Given the description of an element on the screen output the (x, y) to click on. 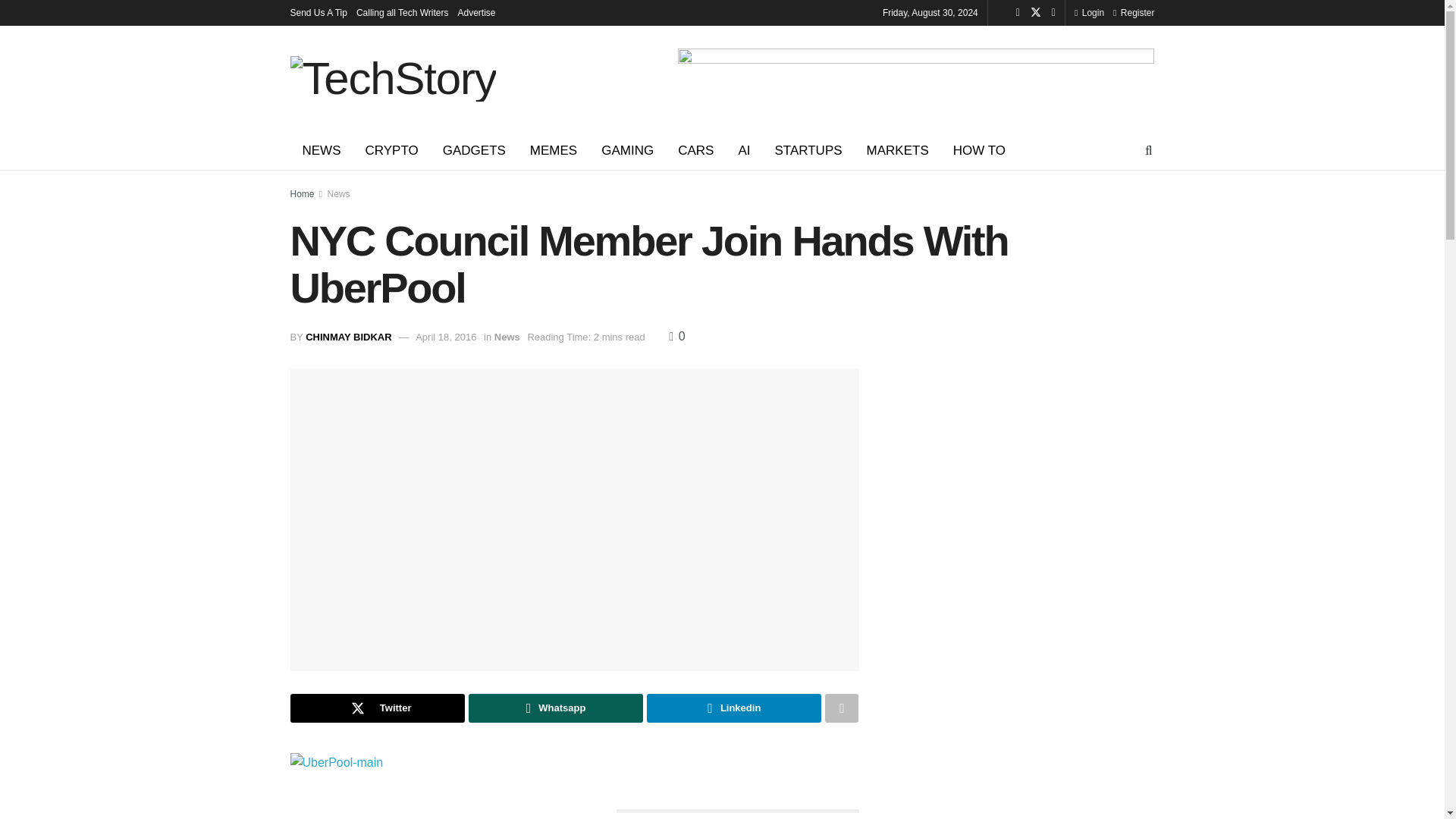
CARS (695, 150)
Advertise (477, 12)
Login (1088, 12)
MEMES (553, 150)
GADGETS (474, 150)
MARKETS (897, 150)
HOW TO (978, 150)
CRYPTO (391, 150)
Send Us A Tip (317, 12)
STARTUPS (807, 150)
